Given the description of an element on the screen output the (x, y) to click on. 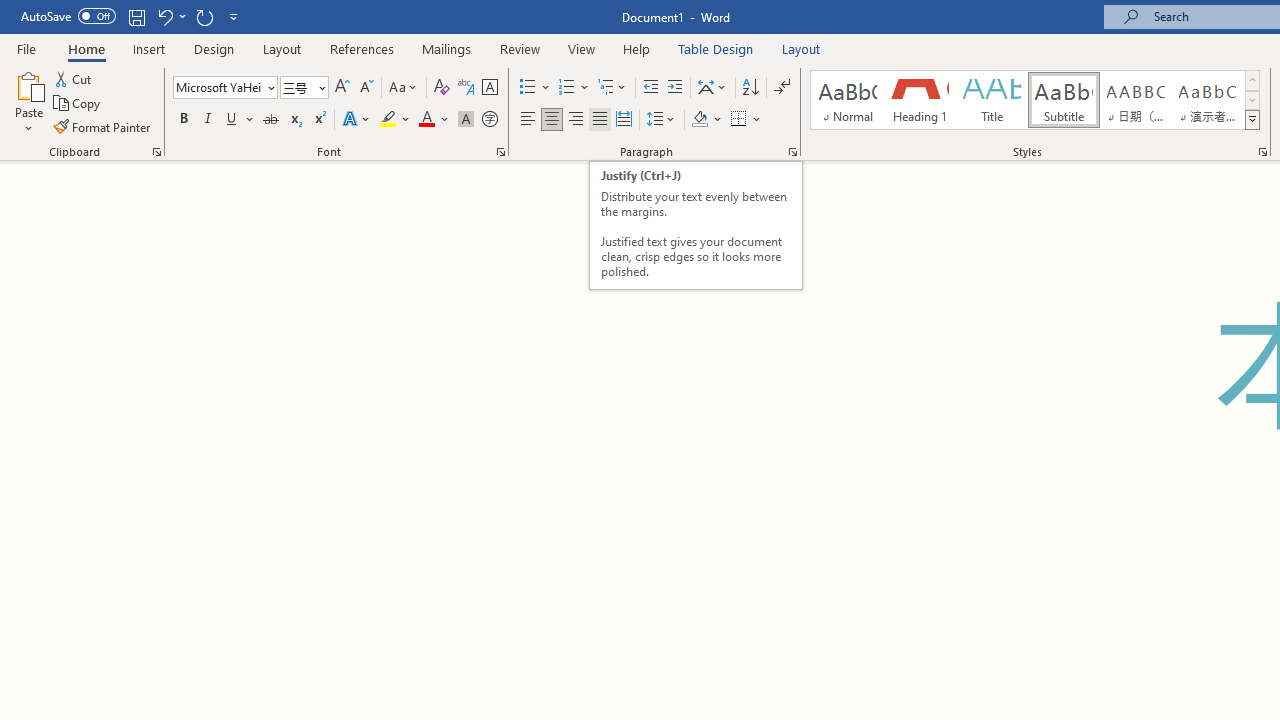
Strikethrough (270, 119)
Copy (78, 103)
Format Painter (103, 126)
Office Clipboard... (156, 151)
Paragraph... (792, 151)
Text Highlight Color (395, 119)
Decrease Indent (650, 87)
Clear Formatting (442, 87)
